Given the description of an element on the screen output the (x, y) to click on. 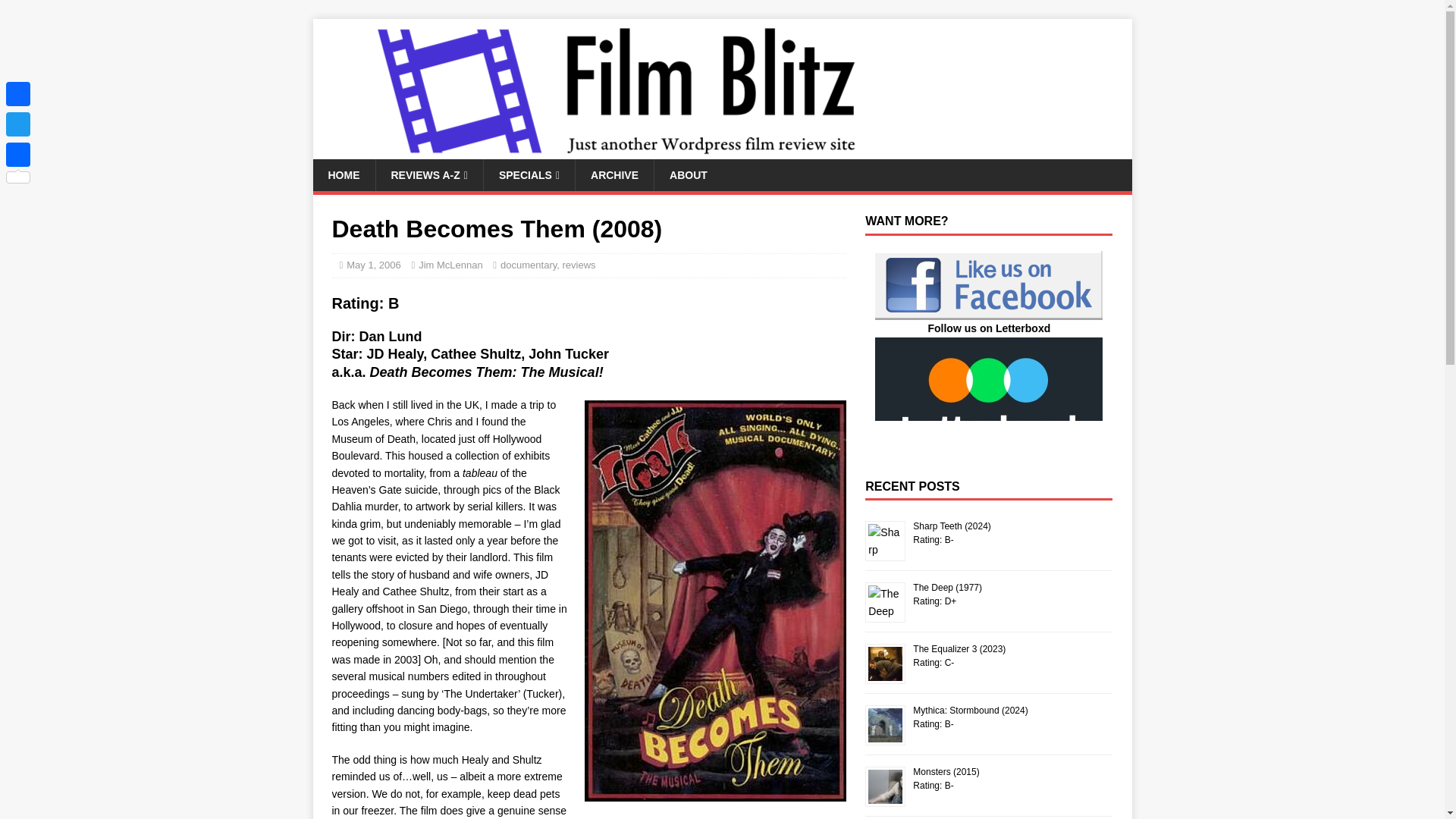
reviews (578, 265)
Twitter (17, 123)
documentary (528, 265)
Jim McLennan (451, 265)
ARCHIVE (614, 174)
Facebook (17, 93)
REVIEWS A-Z (427, 174)
May 1, 2006 (373, 265)
ABOUT (687, 174)
Film Blitz (615, 150)
HOME (343, 174)
SPECIALS (529, 174)
